Given the description of an element on the screen output the (x, y) to click on. 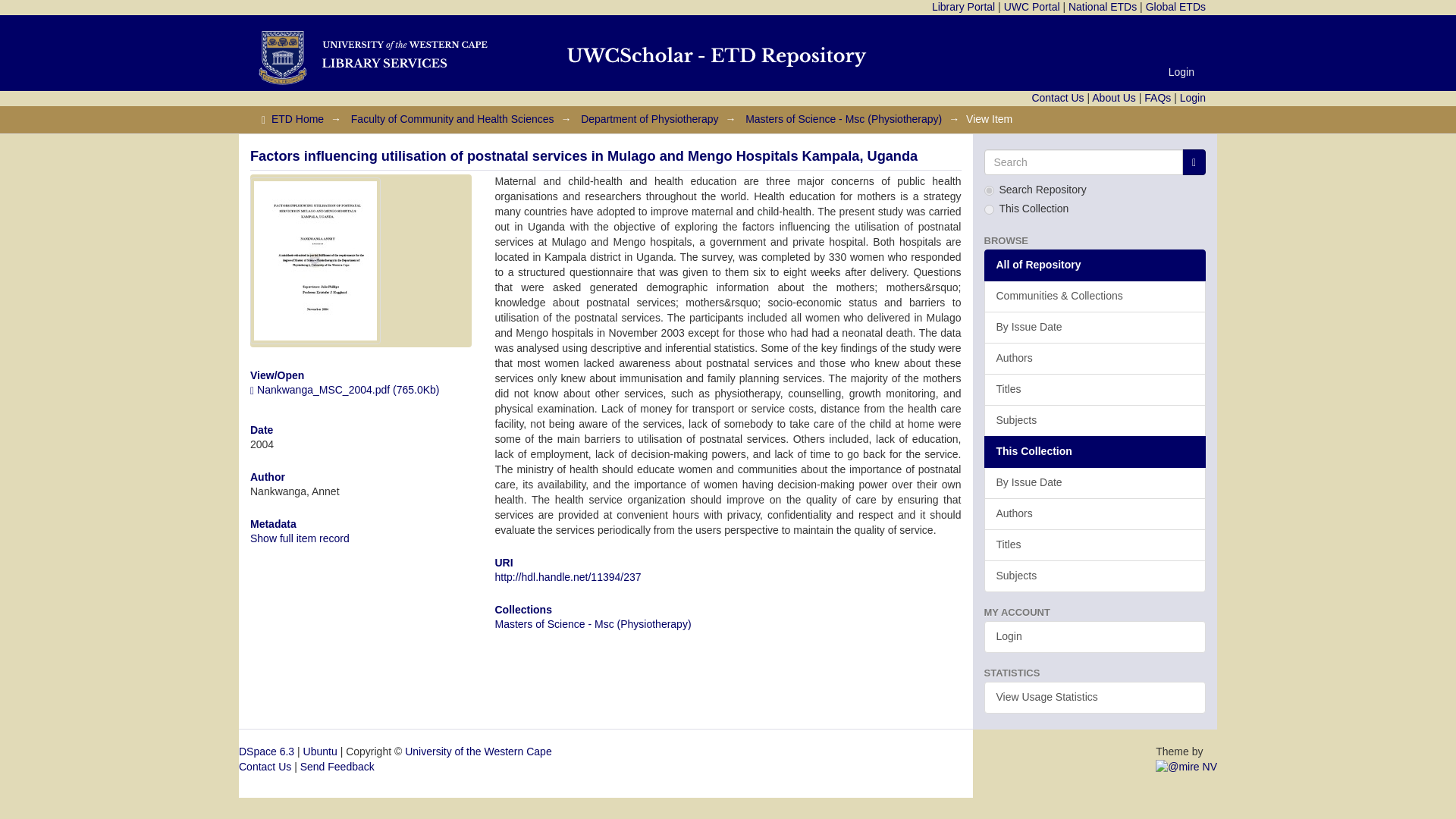
By Issue Date (1095, 327)
National ETDs (1102, 6)
Show full item record (299, 538)
Authors (1095, 358)
ETD Home (296, 119)
Faculty of Community and Health Sciences (452, 119)
Login (1181, 71)
Titles (1095, 389)
About Us (1113, 97)
Department of Physiotherapy (648, 119)
